Given the description of an element on the screen output the (x, y) to click on. 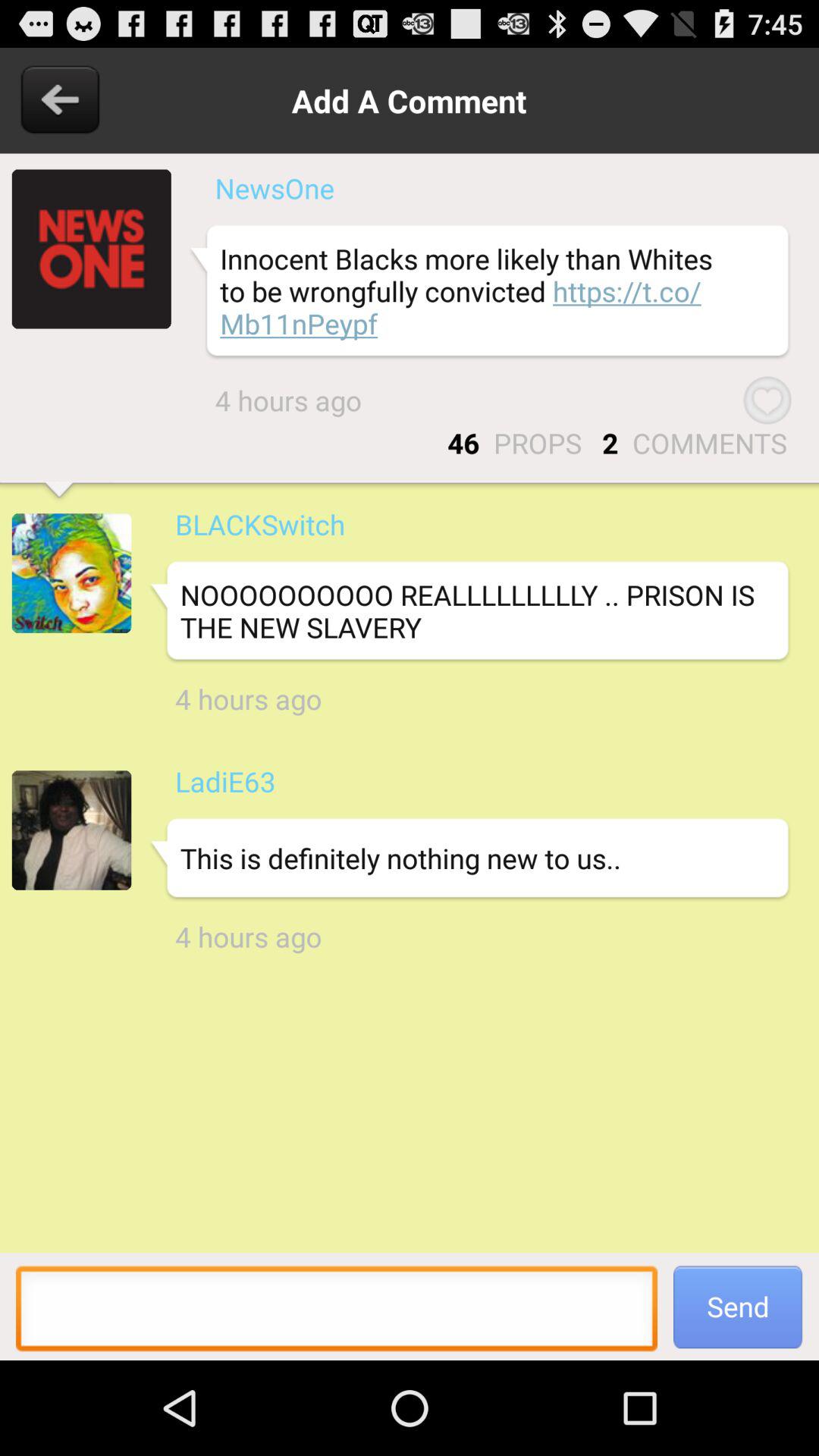
press item below blackswitch (469, 611)
